Given the description of an element on the screen output the (x, y) to click on. 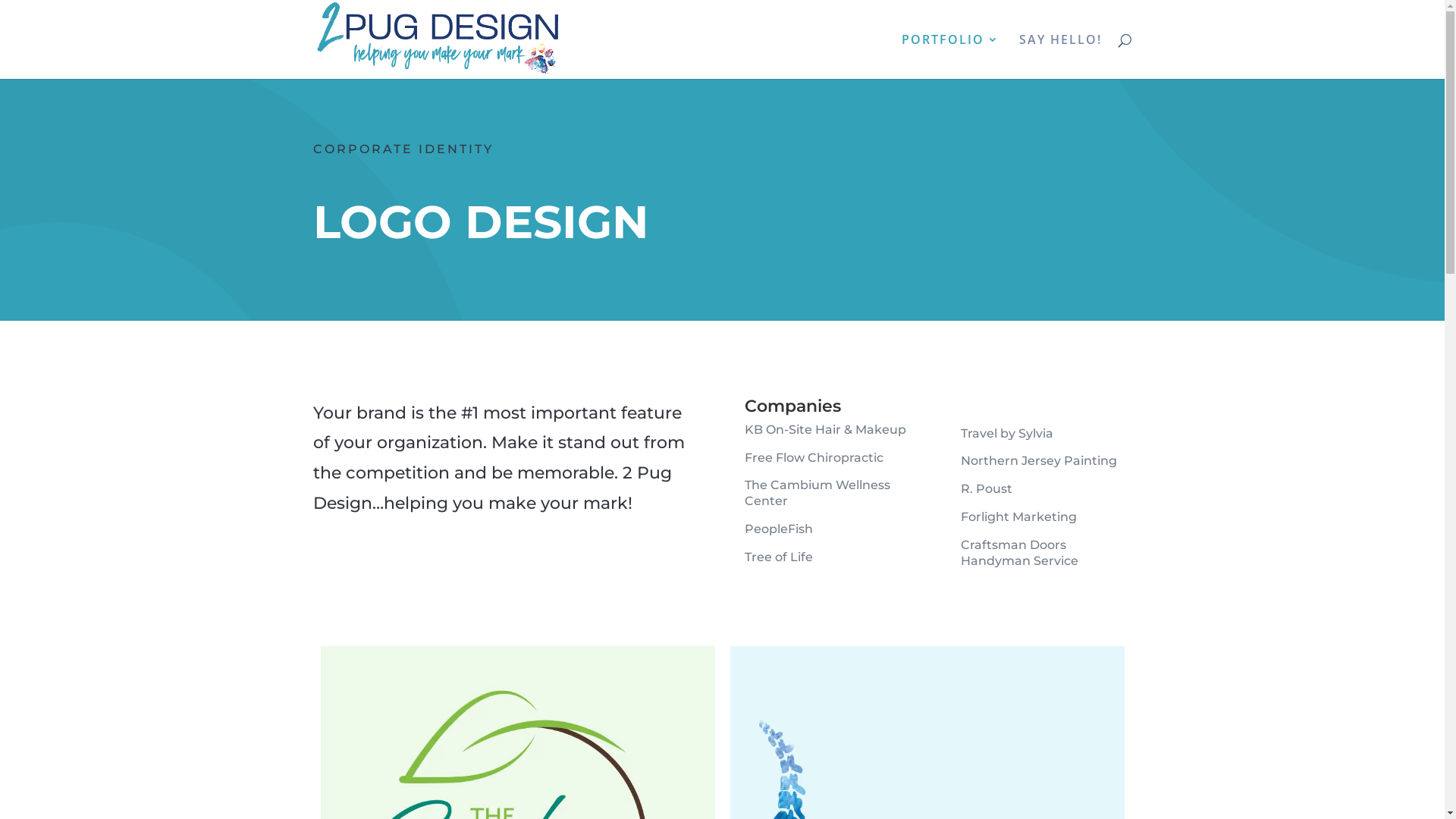
PORTFOLIO Element type: text (949, 56)
SAY HELLO! Element type: text (1060, 56)
